Given the description of an element on the screen output the (x, y) to click on. 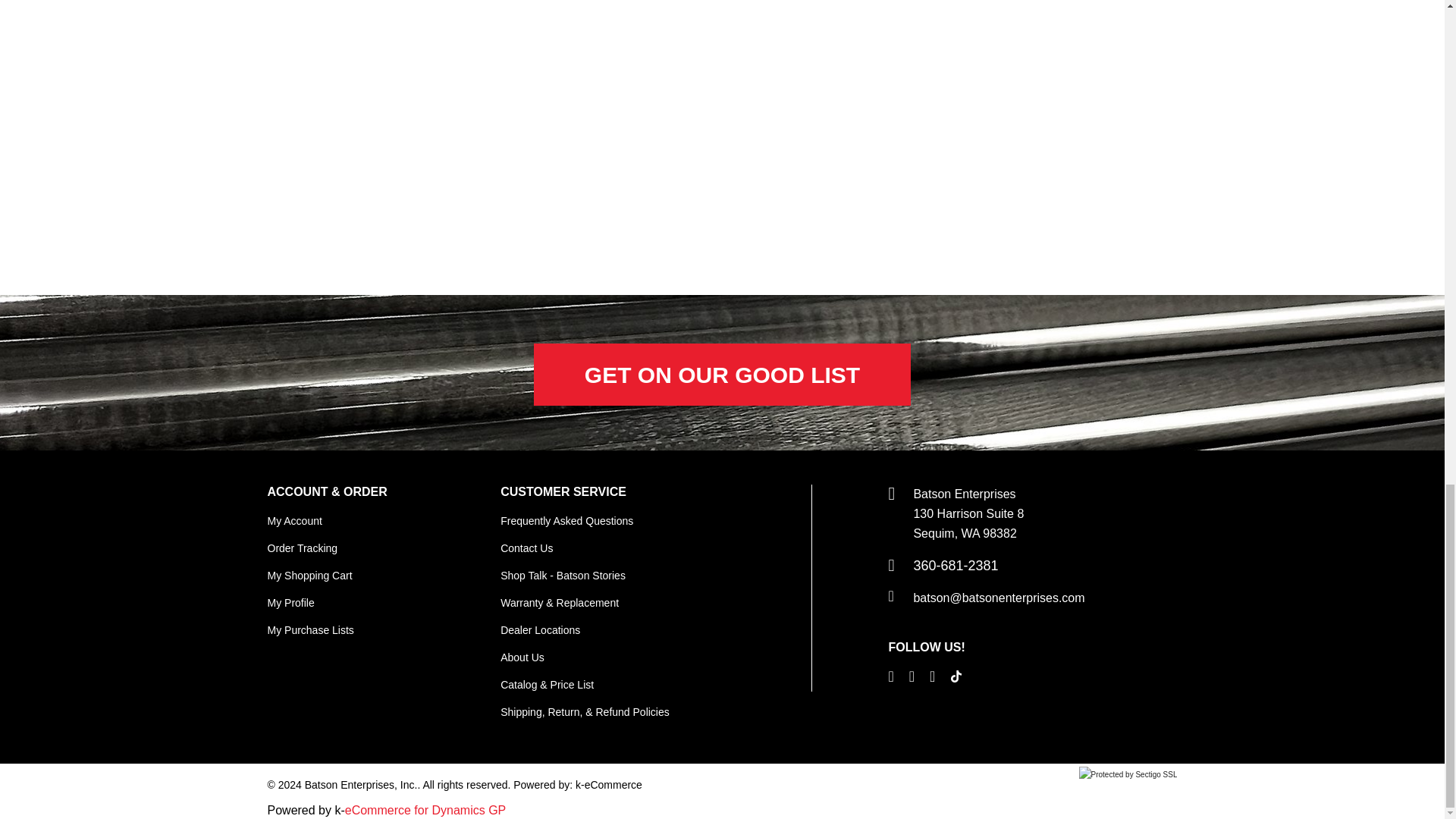
Order Tracking (301, 548)
Shop Talk - Batson Stories (563, 575)
My Profile (290, 603)
About Us (522, 657)
Dealer Locations (539, 630)
My Purchase Lists (309, 630)
My Account (293, 521)
Customer Service (563, 491)
My Shopping Cart (309, 575)
